Given the description of an element on the screen output the (x, y) to click on. 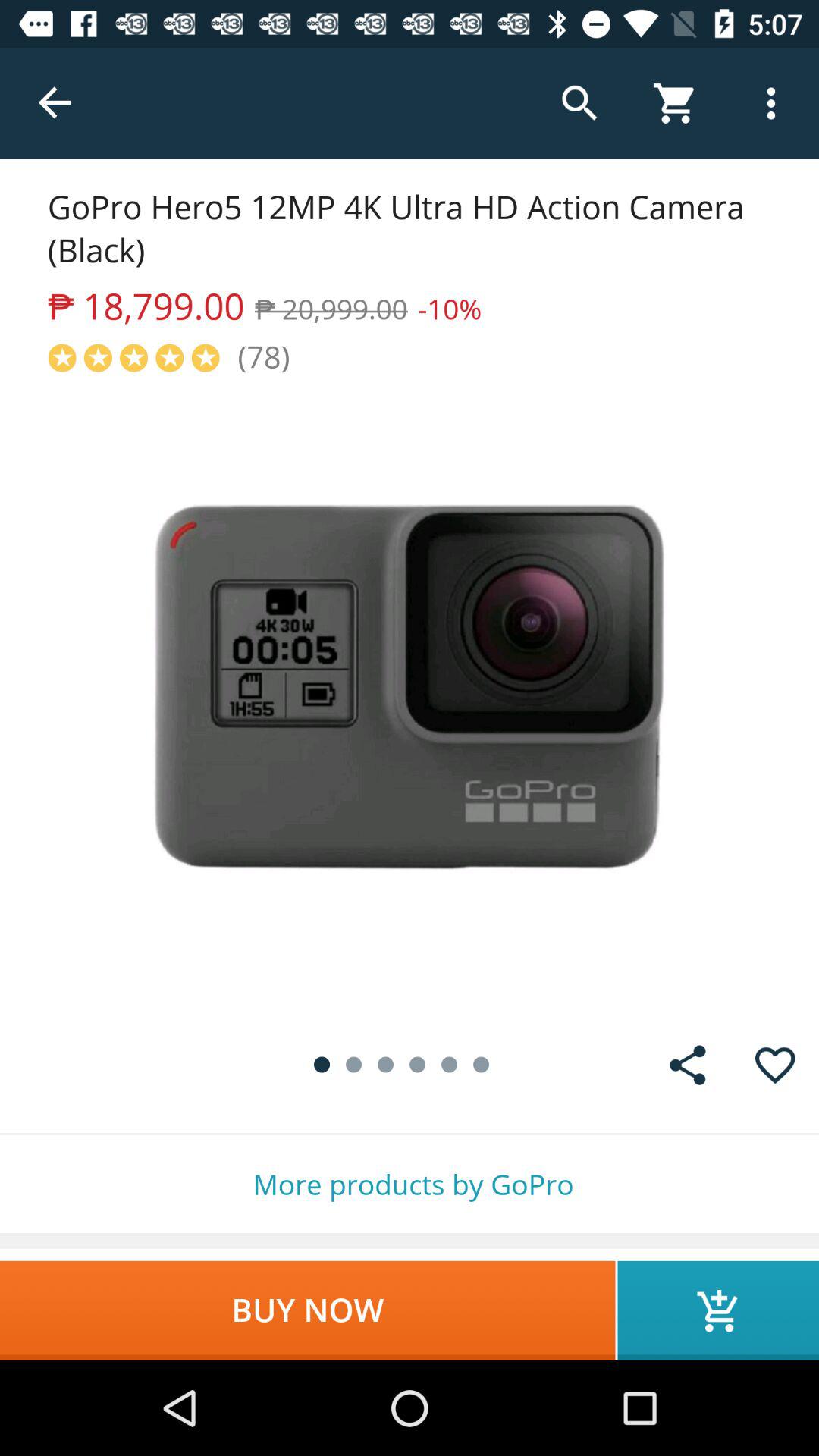
open the more products by (409, 1184)
